Given the description of an element on the screen output the (x, y) to click on. 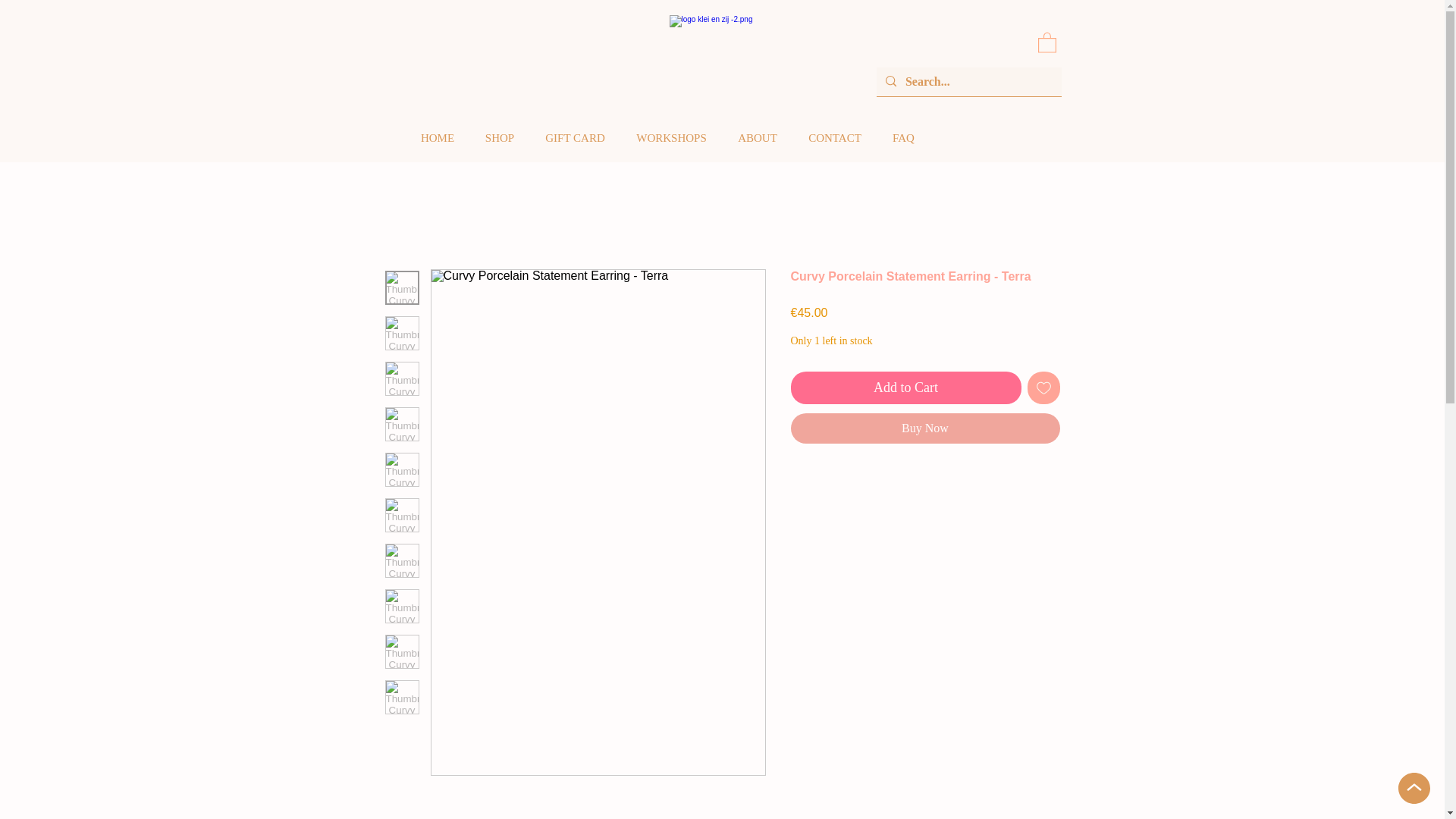
FAQ (903, 137)
HOME (436, 137)
GIFT CARD (574, 137)
ABOUT (757, 137)
CONTACT (835, 137)
Buy Now (924, 428)
WORKSHOPS (671, 137)
Add to Cart (905, 387)
SHOP (499, 137)
